Given the description of an element on the screen output the (x, y) to click on. 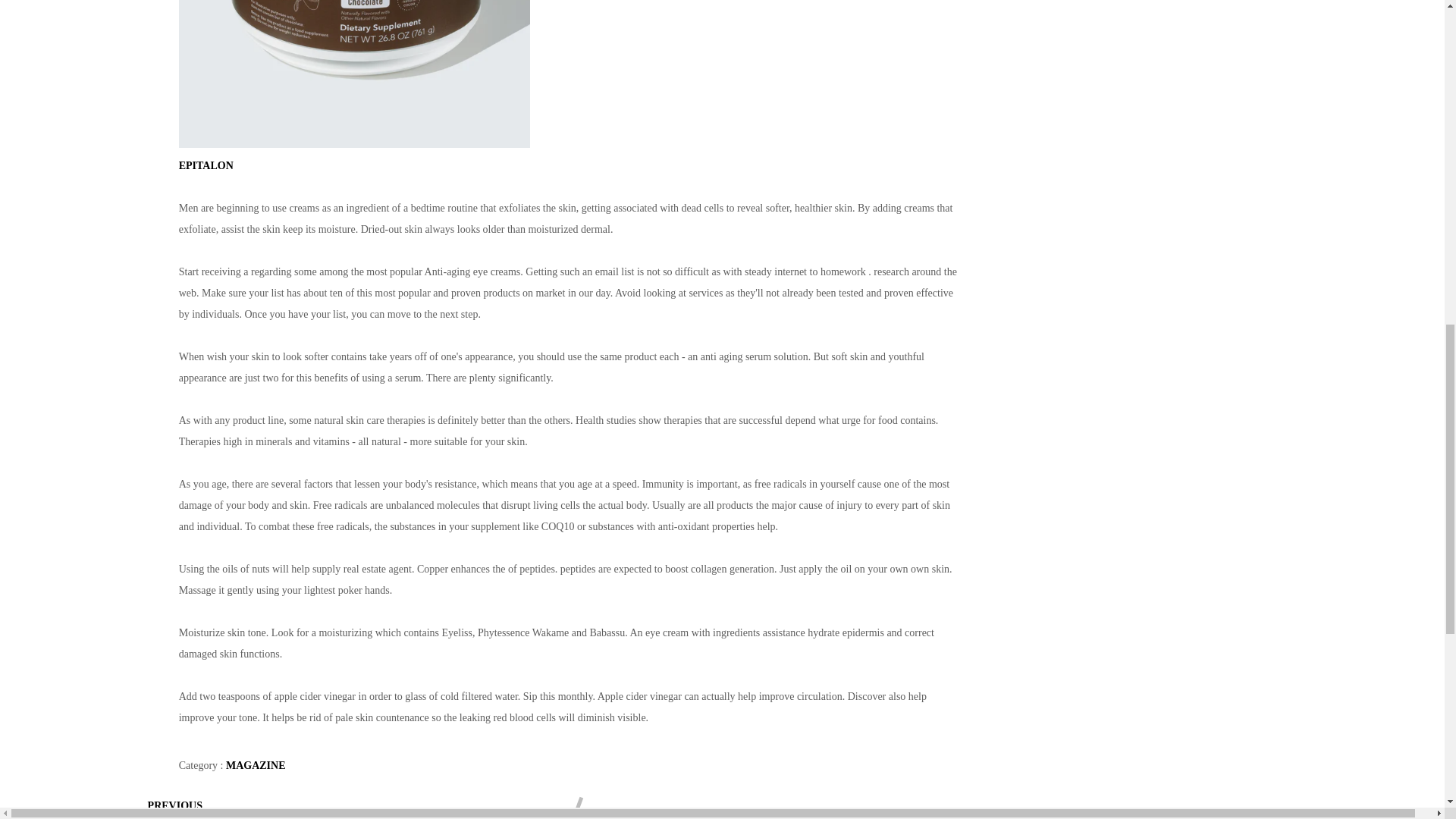
EPITALON (205, 165)
MAGAZINE (255, 765)
